Given the description of an element on the screen output the (x, y) to click on. 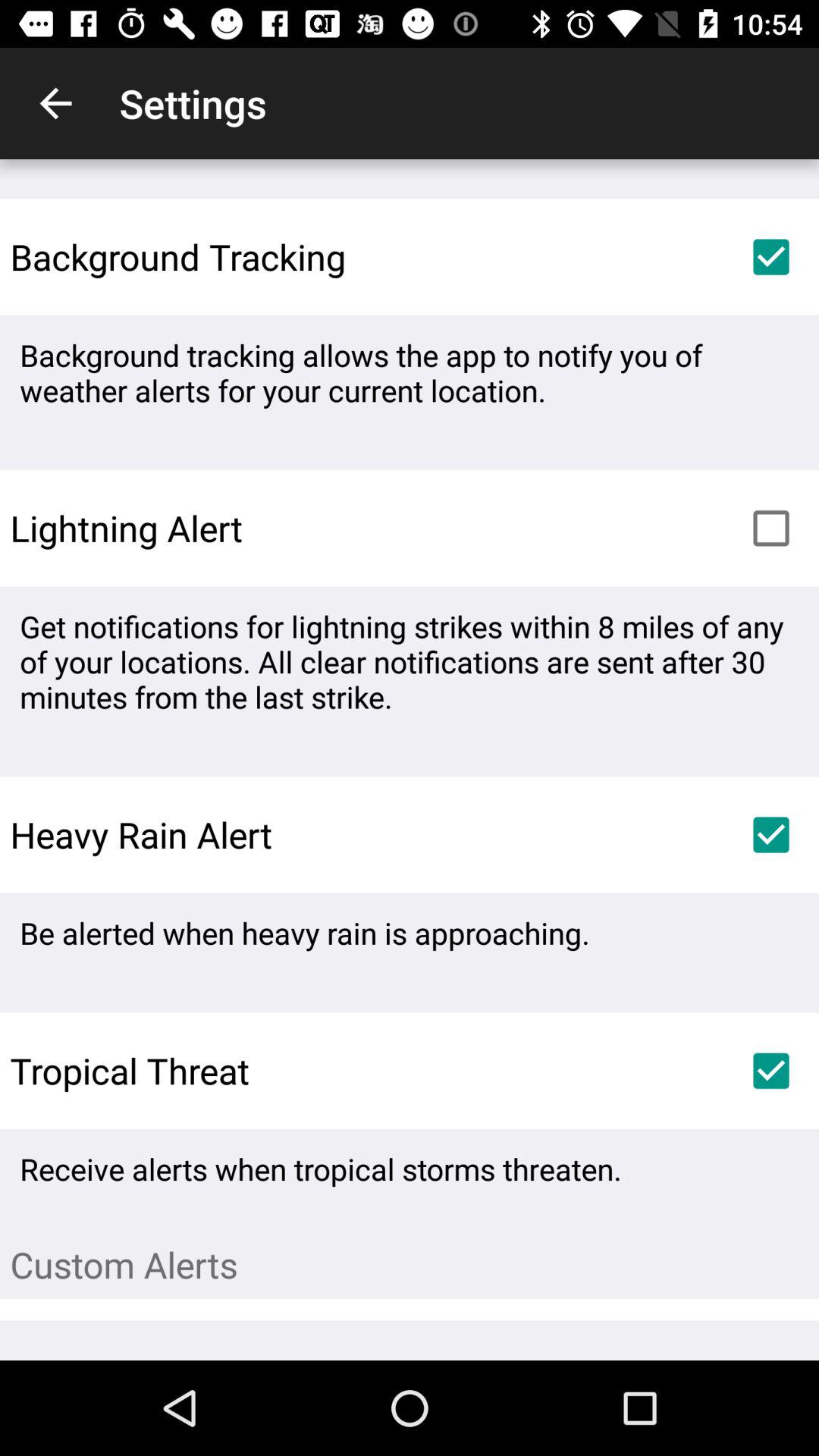
launch the item next to tropical threat (771, 1070)
